Given the description of an element on the screen output the (x, y) to click on. 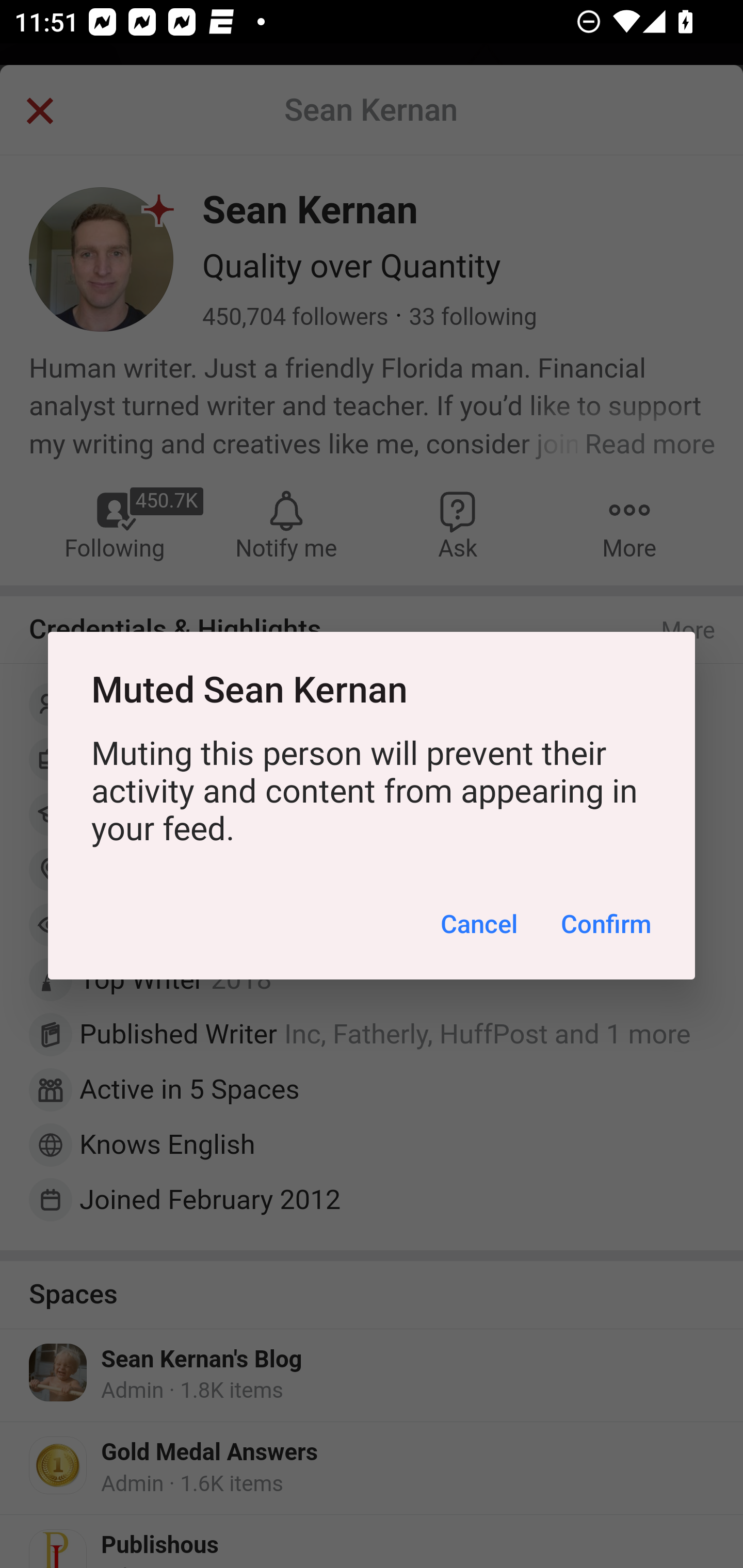
Cancel (479, 923)
Confirm (606, 923)
